Given the description of an element on the screen output the (x, y) to click on. 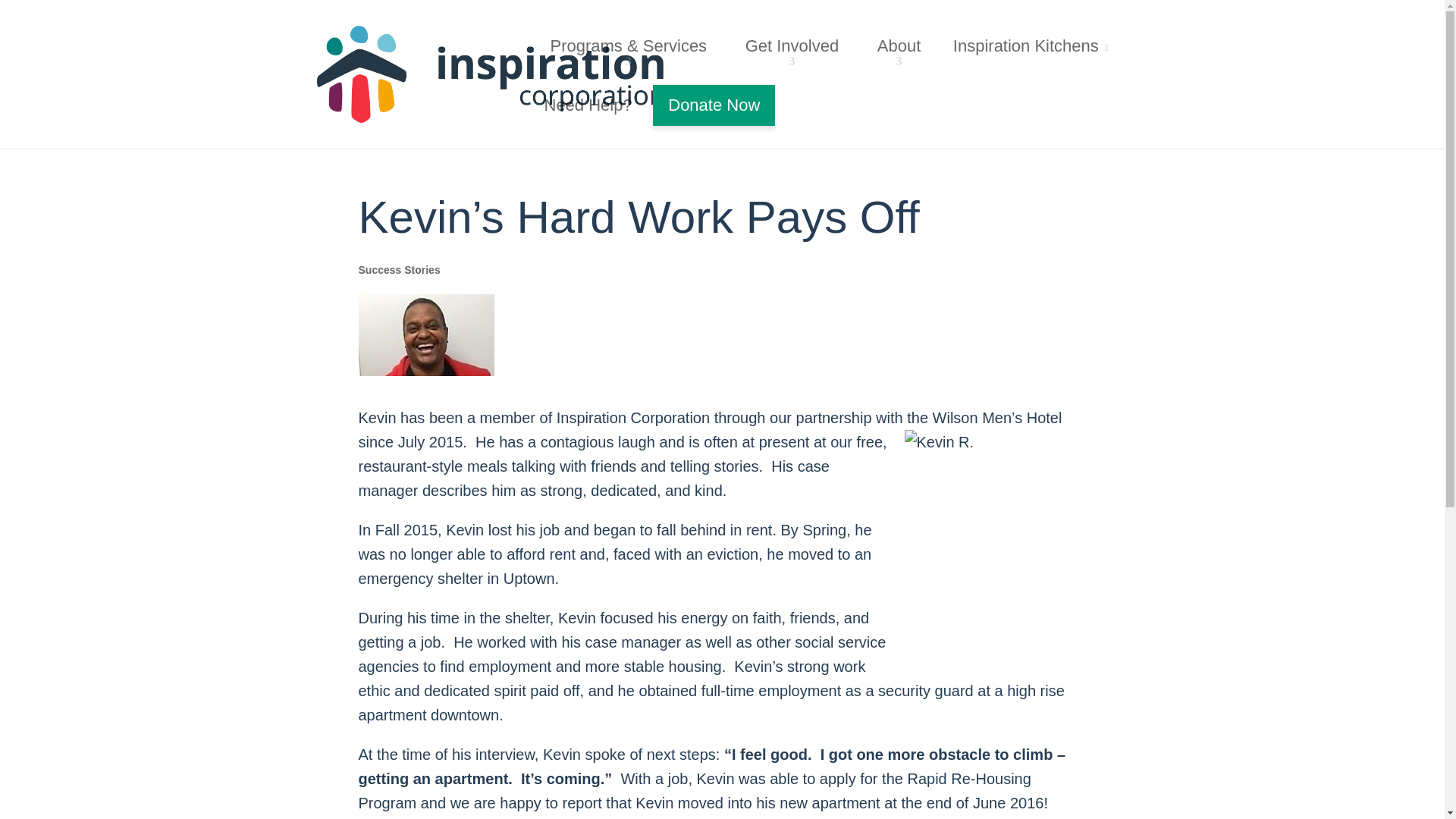
Need Help? (587, 104)
Get Involved (794, 46)
Inspiration Kitchens (1030, 45)
Donate Now (713, 105)
About (901, 46)
